Given the description of an element on the screen output the (x, y) to click on. 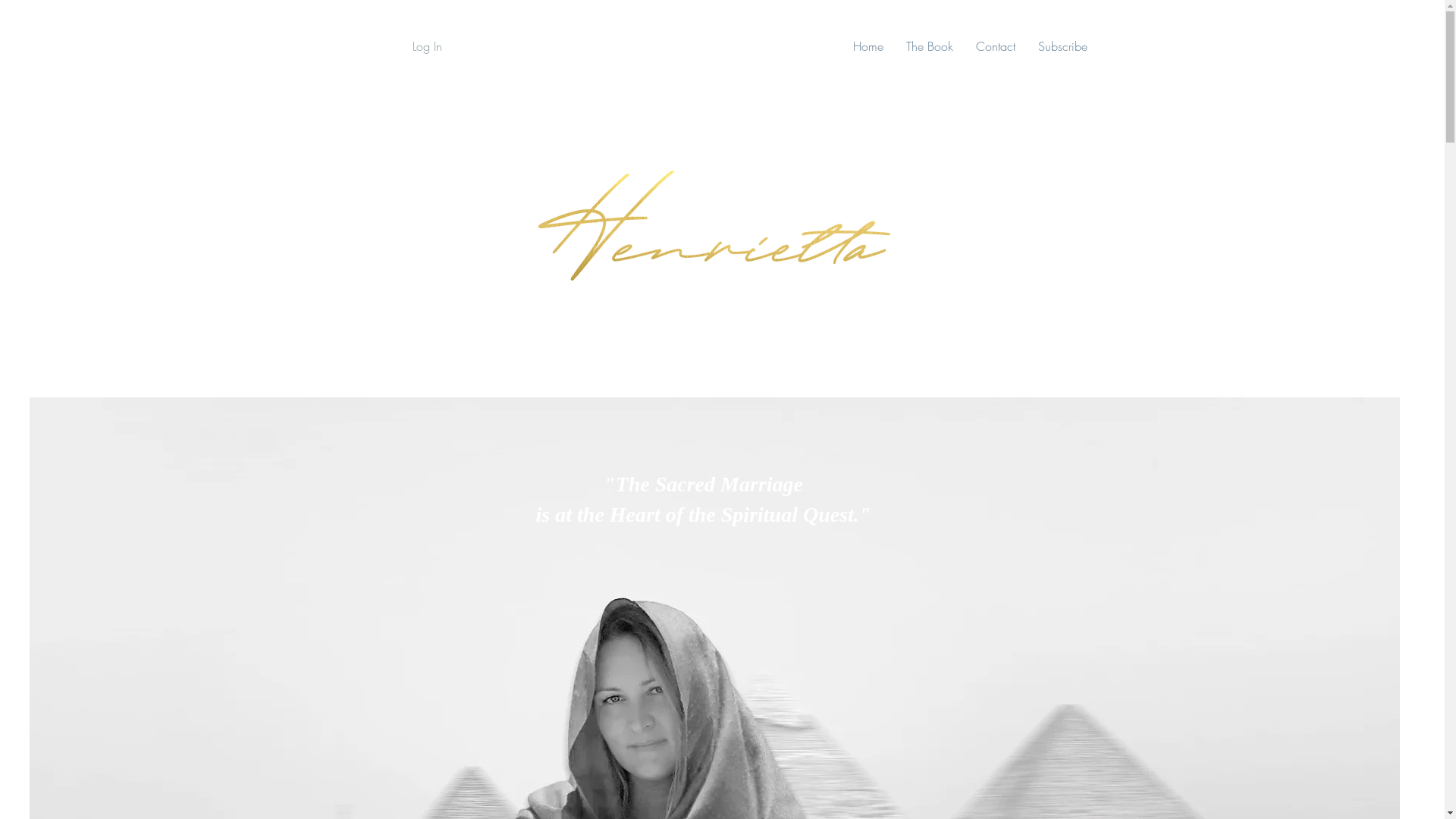
Home Element type: text (867, 46)
Contact Element type: text (995, 46)
Subscribe Element type: text (1062, 46)
Log In Element type: text (411, 45)
0 Element type: text (1362, 46)
The Book Element type: text (929, 46)
